Given the description of an element on the screen output the (x, y) to click on. 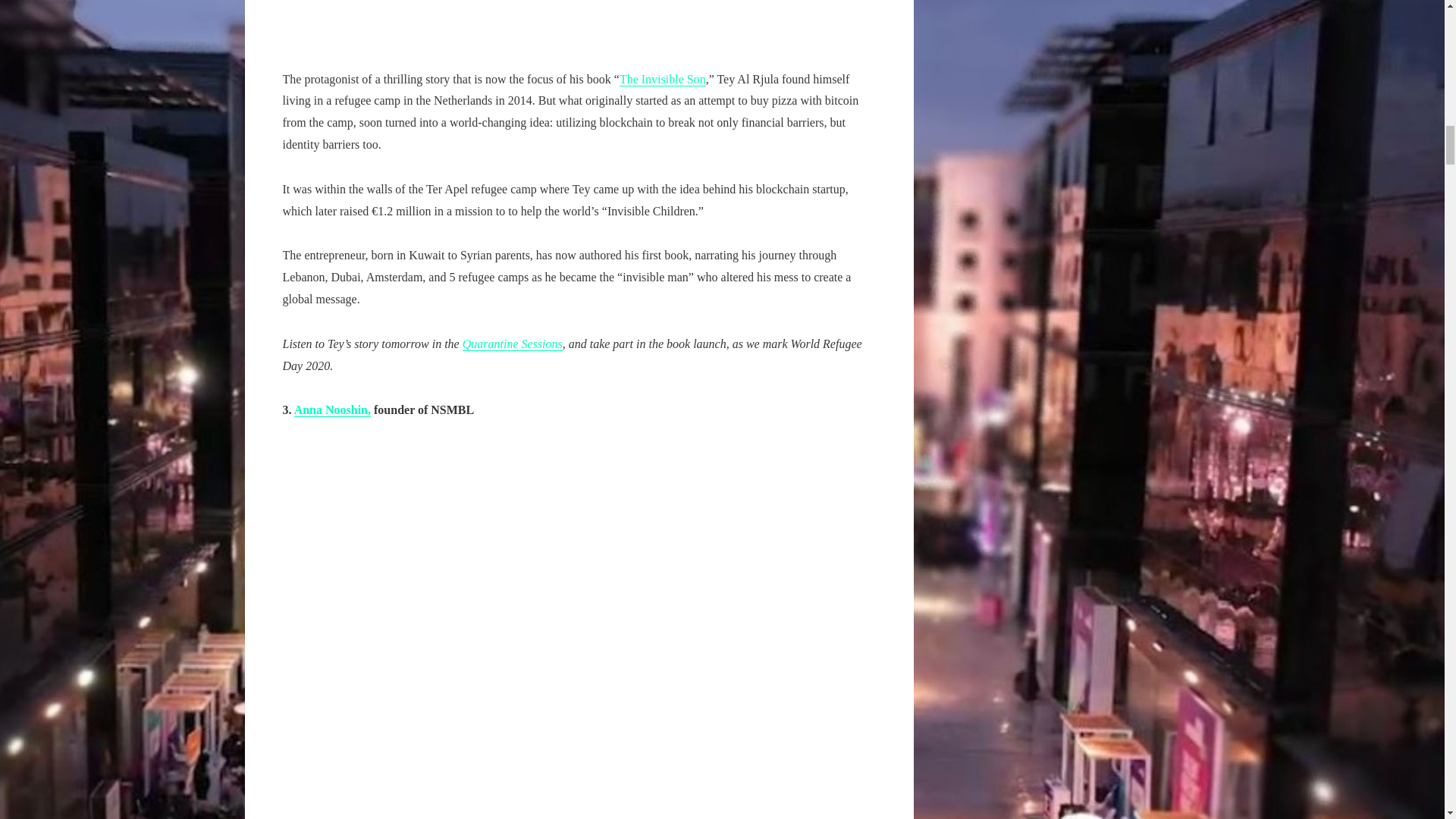
Quarantine Sessions (512, 344)
Anna Nooshin, (332, 409)
The Invisible Son (663, 79)
